Given the description of an element on the screen output the (x, y) to click on. 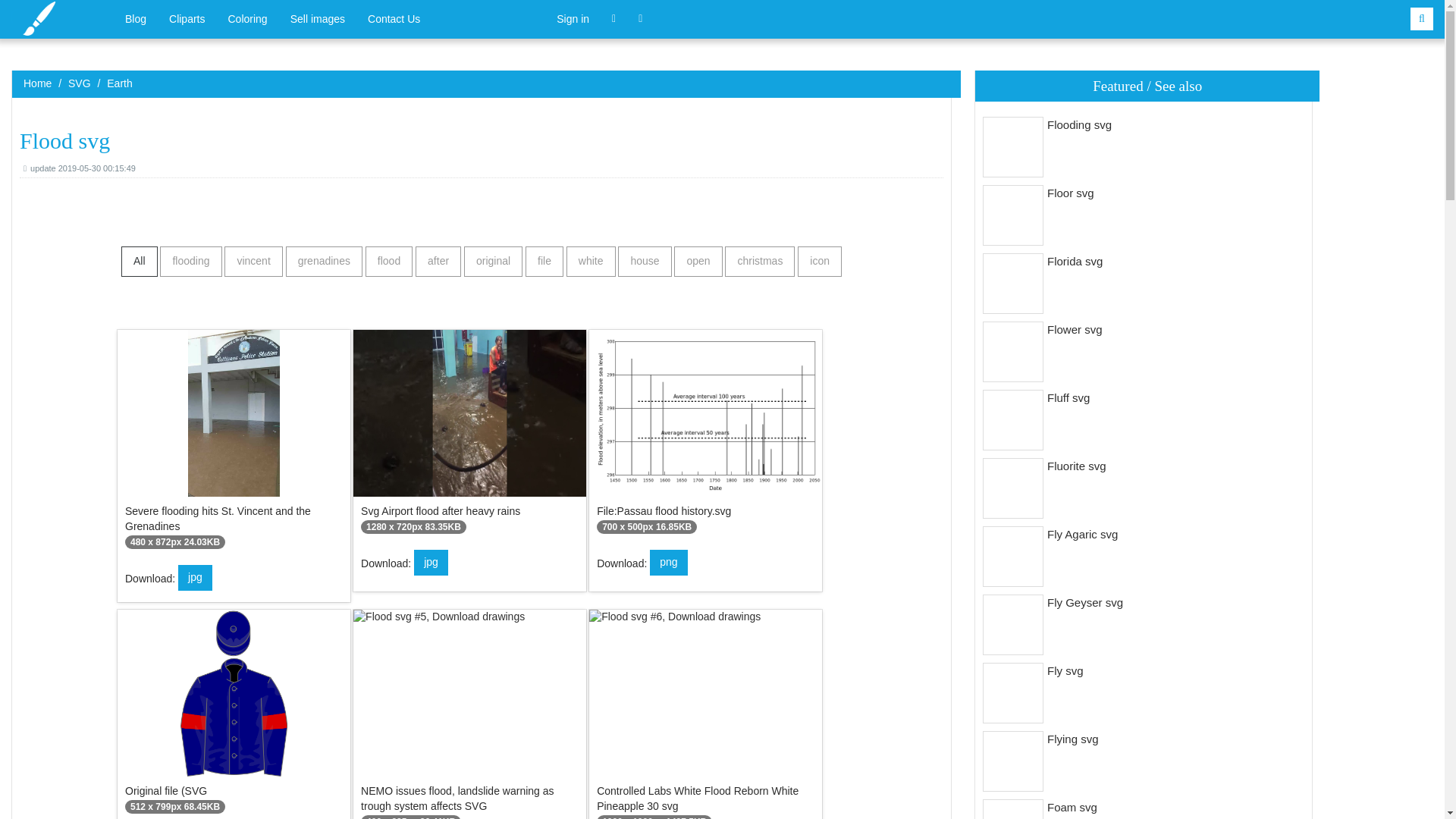
Download image (668, 562)
original (705, 436)
Warning svg flood (493, 261)
Earth (469, 714)
Cliparts (119, 82)
Coloring (186, 18)
All (247, 18)
jpg (138, 261)
Download image (194, 577)
white (430, 562)
vincent (590, 261)
after (253, 261)
Vincent today hits (437, 261)
Flood rains airport (233, 443)
